Given the description of an element on the screen output the (x, y) to click on. 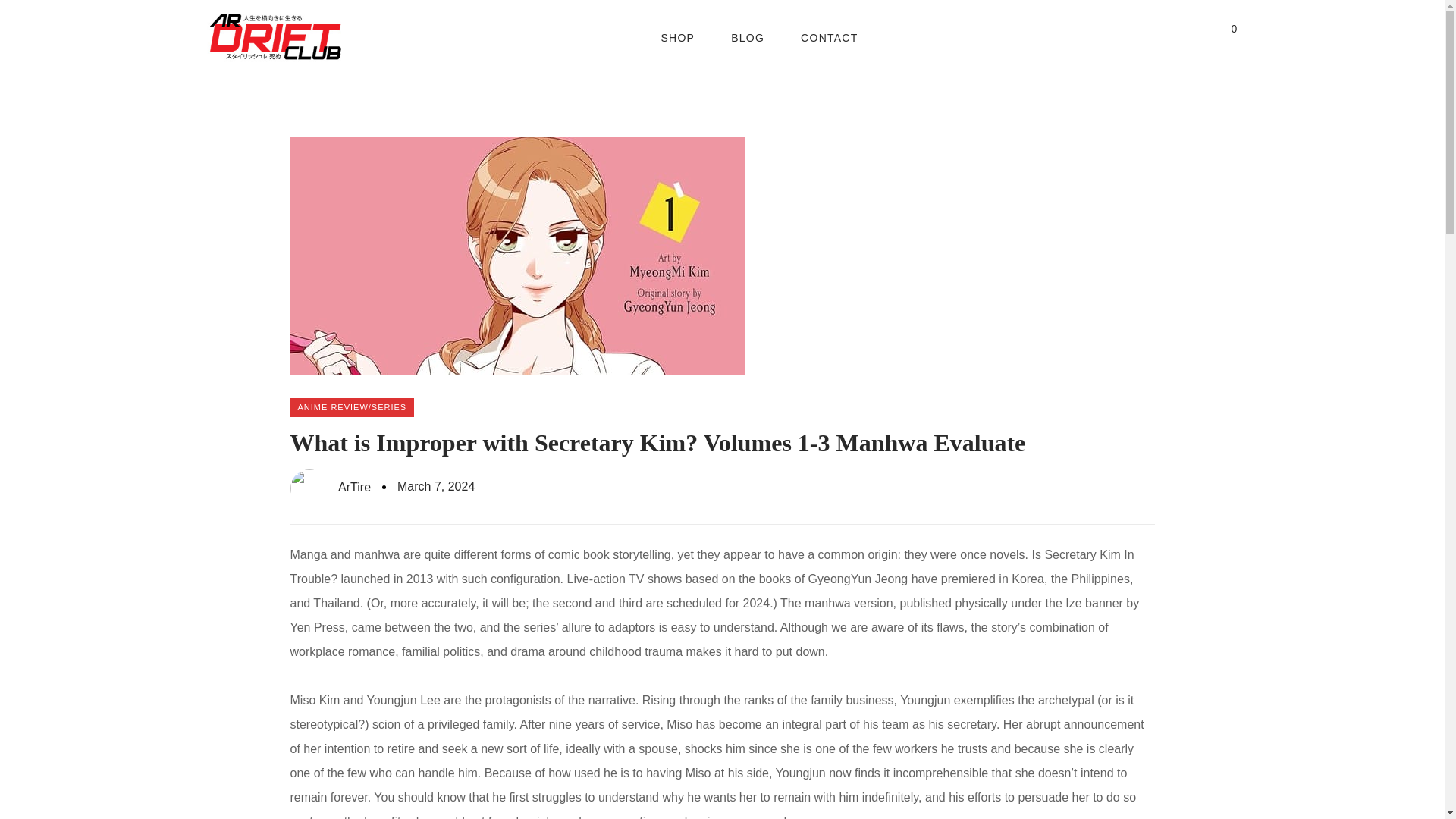
March 7, 2024 (435, 486)
0 (1229, 37)
CONTACT (828, 37)
SHOP (677, 37)
ArTire (330, 487)
AR Drift Club (274, 37)
BLOG (747, 37)
